Given the description of an element on the screen output the (x, y) to click on. 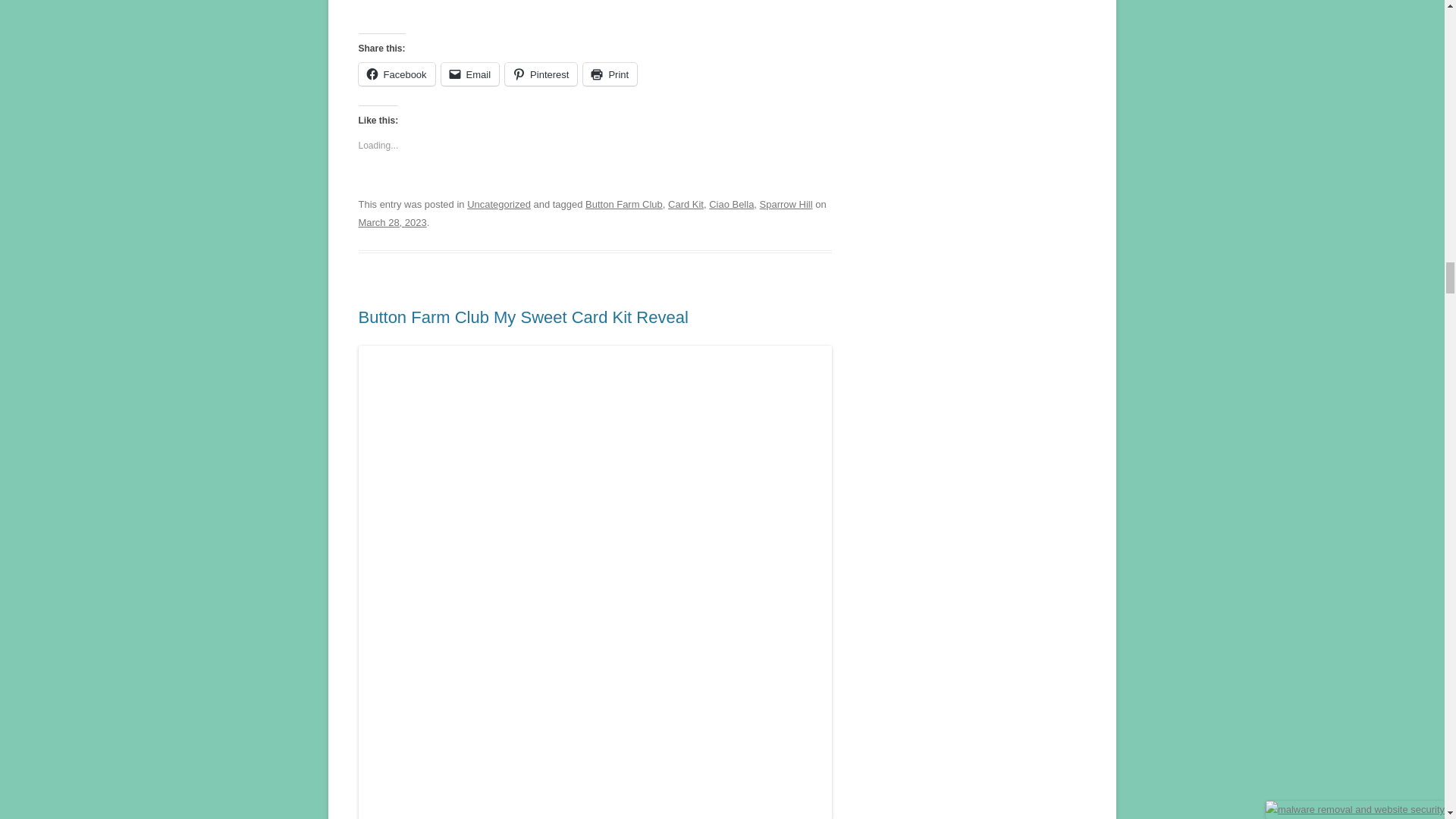
Ciao Bella (731, 204)
Click to share on Pinterest (540, 74)
Facebook (395, 74)
March 28, 2023 (392, 222)
12:01 AM (392, 222)
Button Farm Club (623, 204)
Click to email a link to a friend (470, 74)
Print (610, 74)
Button Farm Club My Sweet Card Kit Reveal (522, 316)
Uncategorized (499, 204)
